Given the description of an element on the screen output the (x, y) to click on. 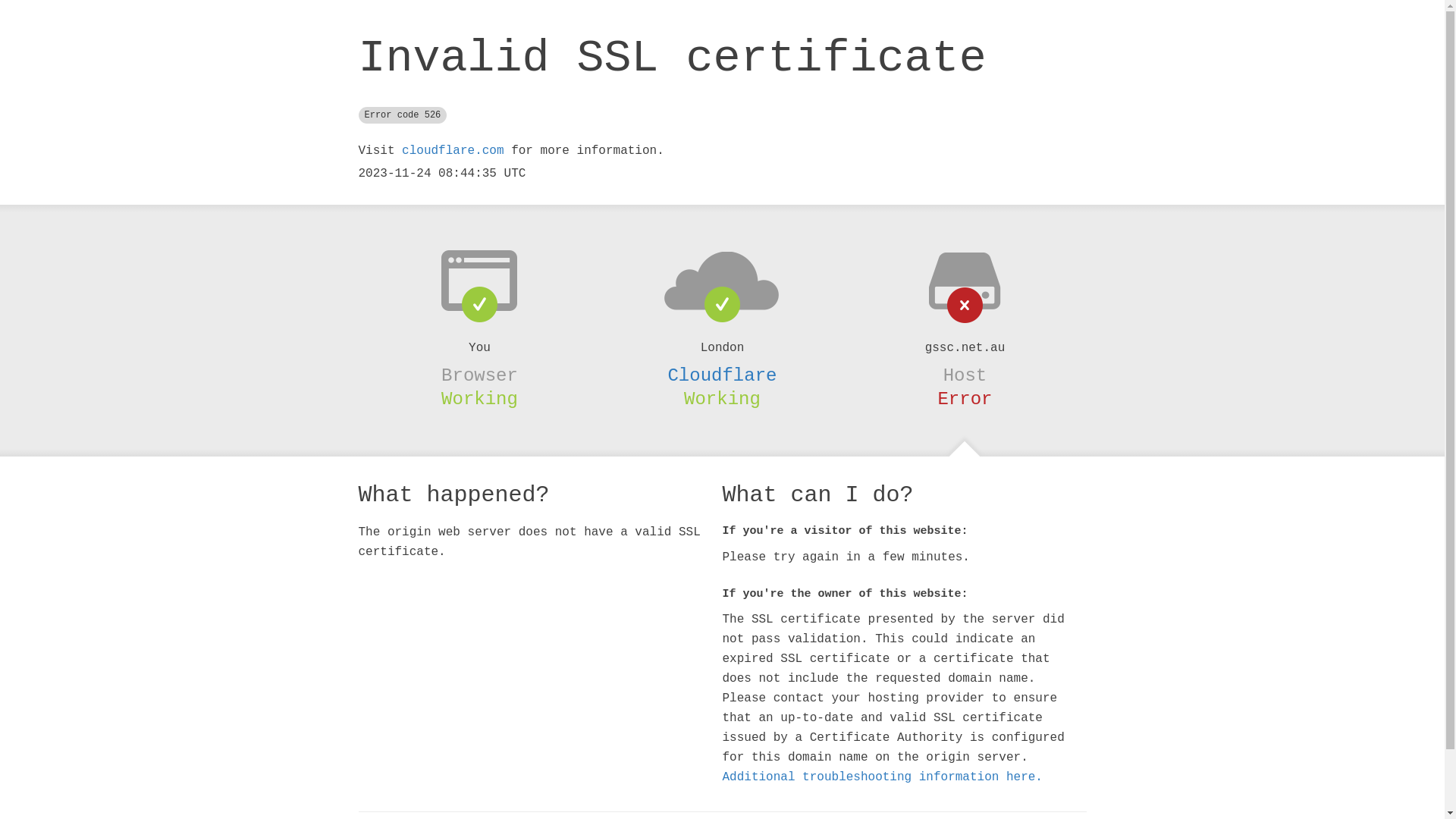
cloudflare.com Element type: text (452, 150)
Additional troubleshooting information here. Element type: text (881, 777)
Cloudflare Element type: text (721, 375)
